Given the description of an element on the screen output the (x, y) to click on. 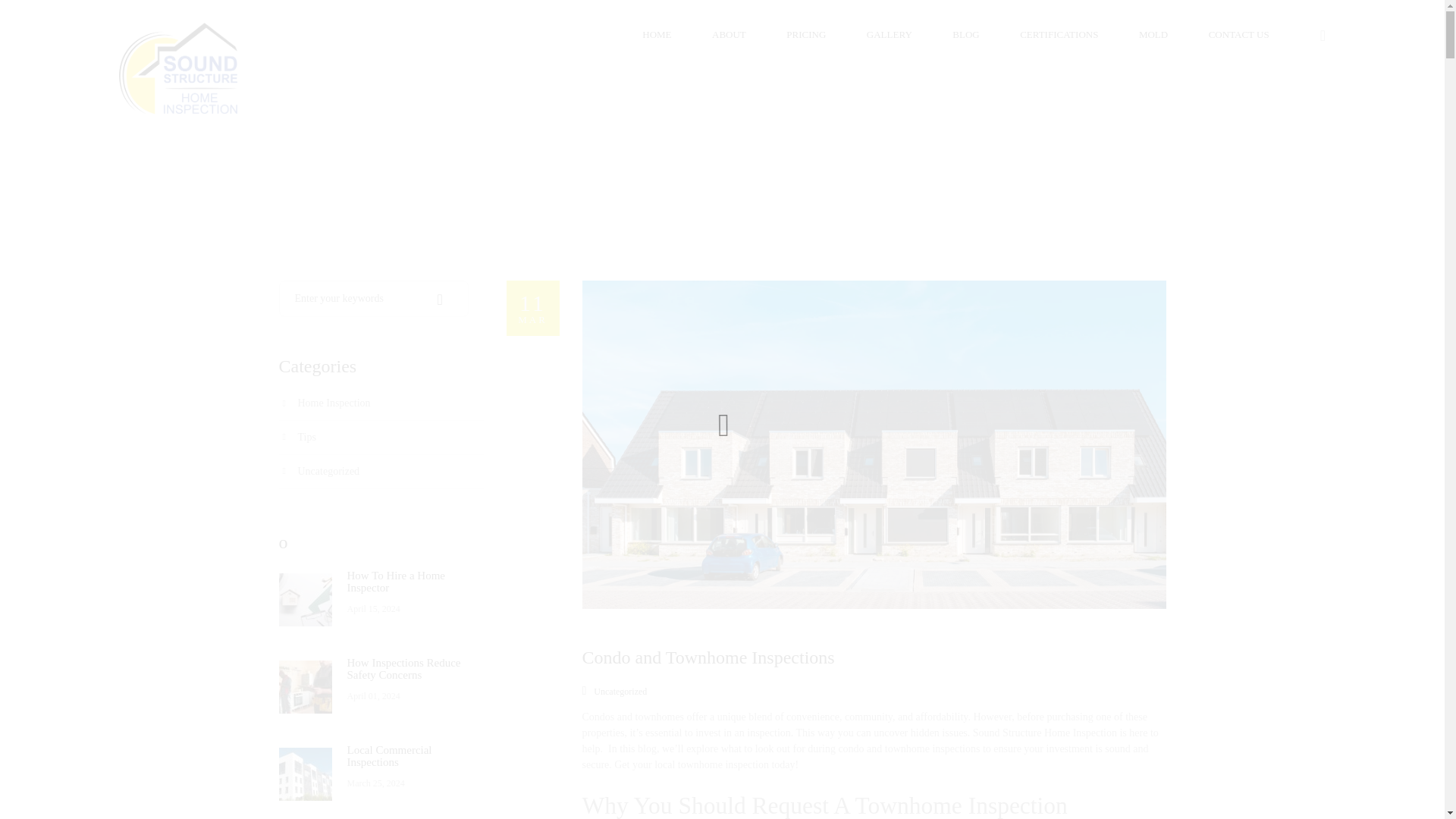
BLOG (965, 34)
GALLERY (889, 34)
ABOUT (729, 34)
CONTACT US (1248, 34)
Uncategorized (620, 691)
MOLD (1152, 34)
HOME (656, 34)
CERTIFICATIONS (1058, 34)
PRICING (805, 34)
Condo and Townhome Inspections (532, 307)
Home (708, 657)
